Given the description of an element on the screen output the (x, y) to click on. 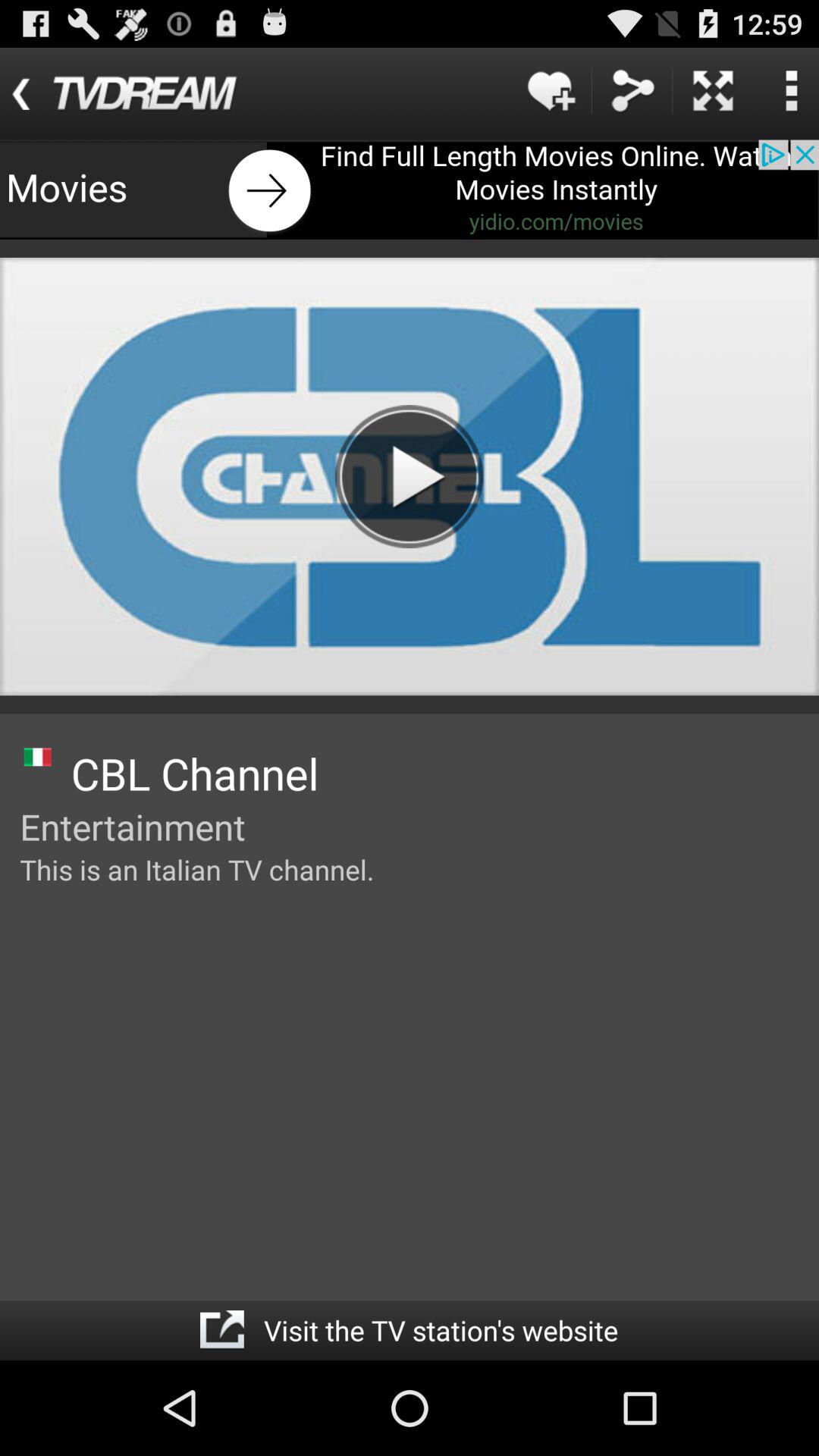
more options (791, 90)
